Given the description of an element on the screen output the (x, y) to click on. 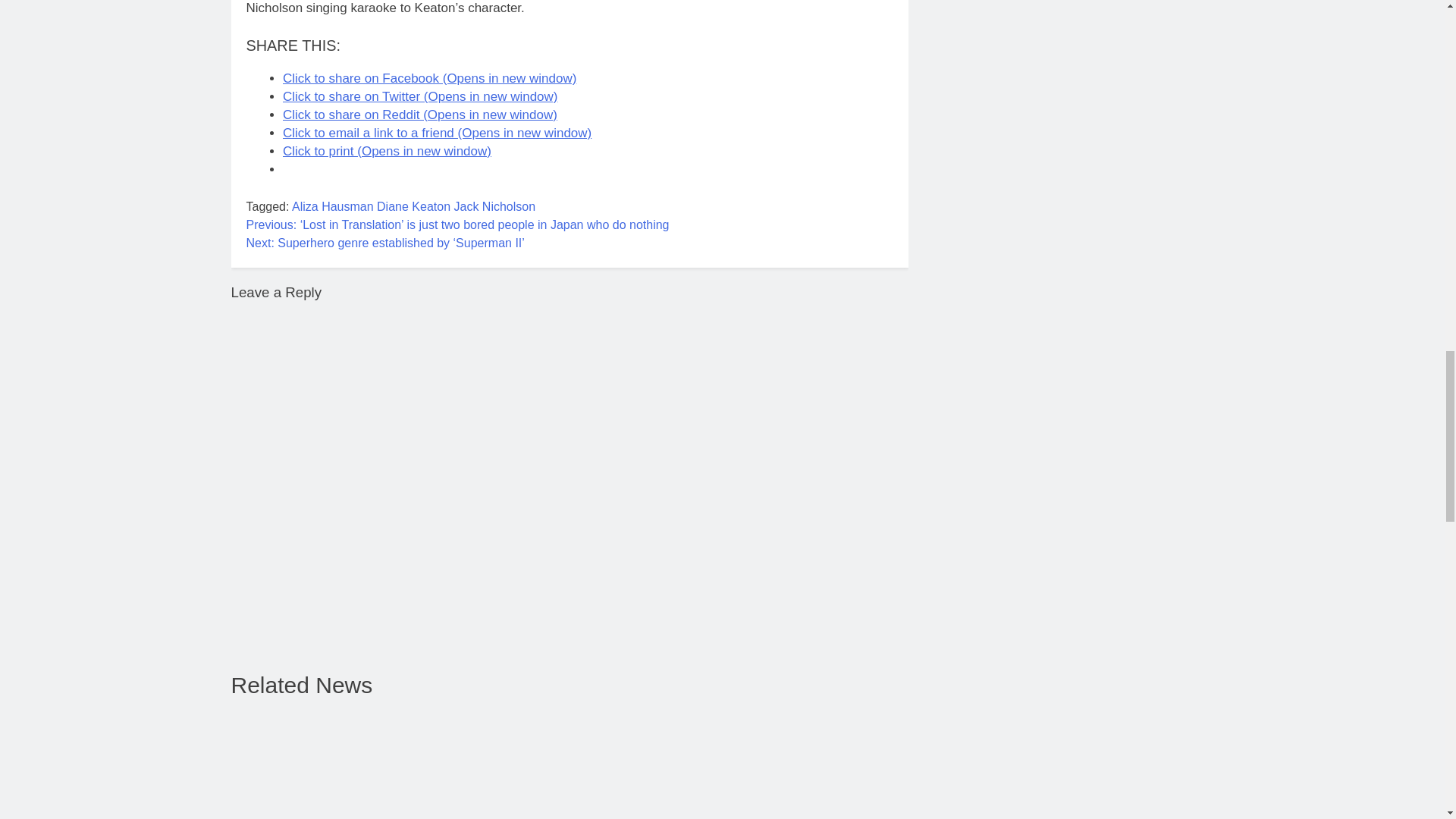
Aliza Hausman (333, 205)
Click to share on Reddit (419, 114)
Click to email a link to a friend (436, 133)
Click to share on Facebook (429, 78)
Click to share on Twitter (419, 96)
Click to print (387, 151)
Jack Nicholson (493, 205)
Diane Keaton (413, 205)
